Given the description of an element on the screen output the (x, y) to click on. 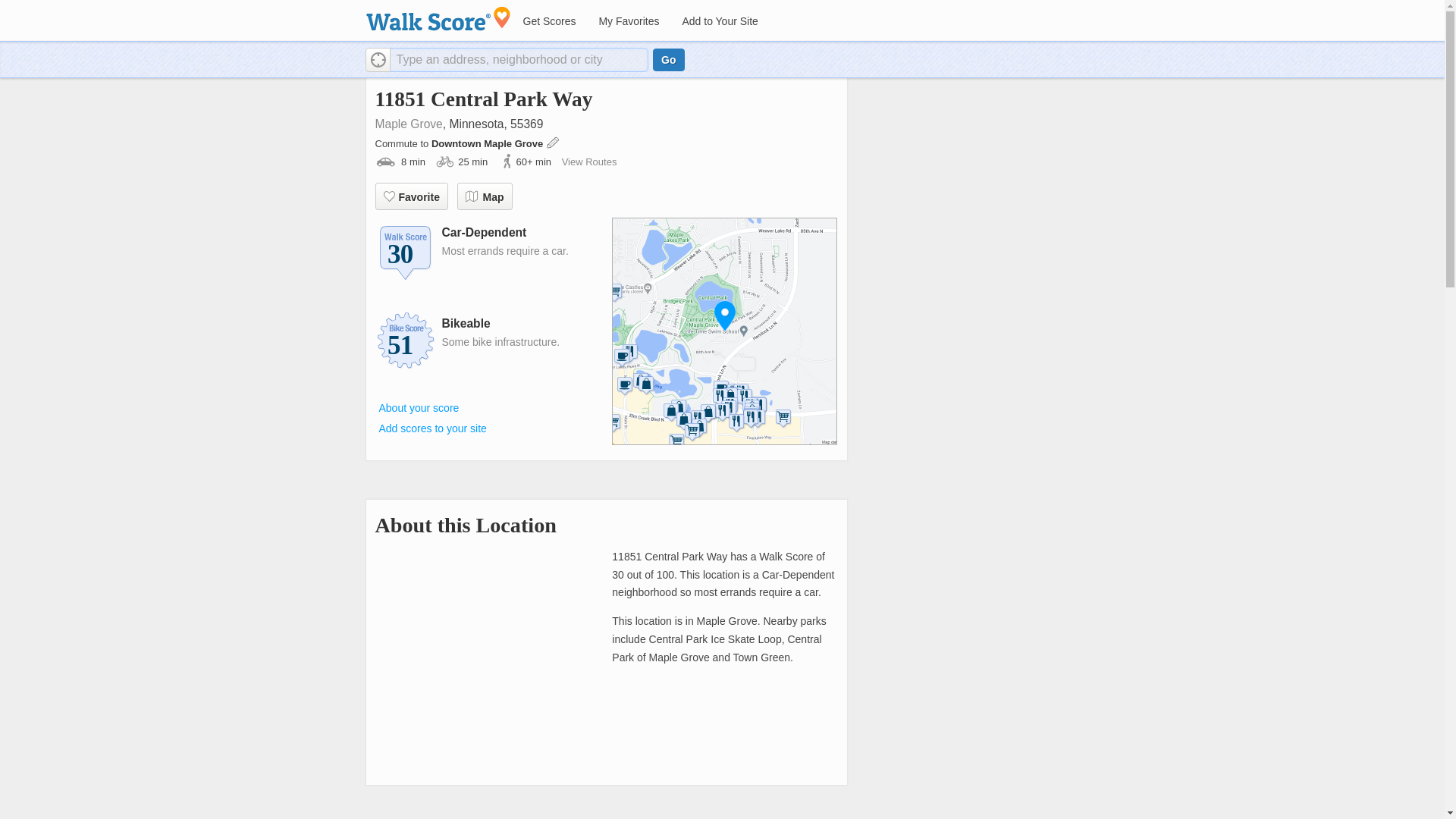
Downtown Maple Grove (488, 143)
Favorite (410, 195)
Add to Your Site (719, 21)
Go (668, 59)
About your score (419, 407)
Add scores to your site (432, 428)
Map (484, 195)
Maple Grove (408, 123)
View Routes (589, 161)
Get Scores (548, 21)
My Favorites (628, 21)
